Given the description of an element on the screen output the (x, y) to click on. 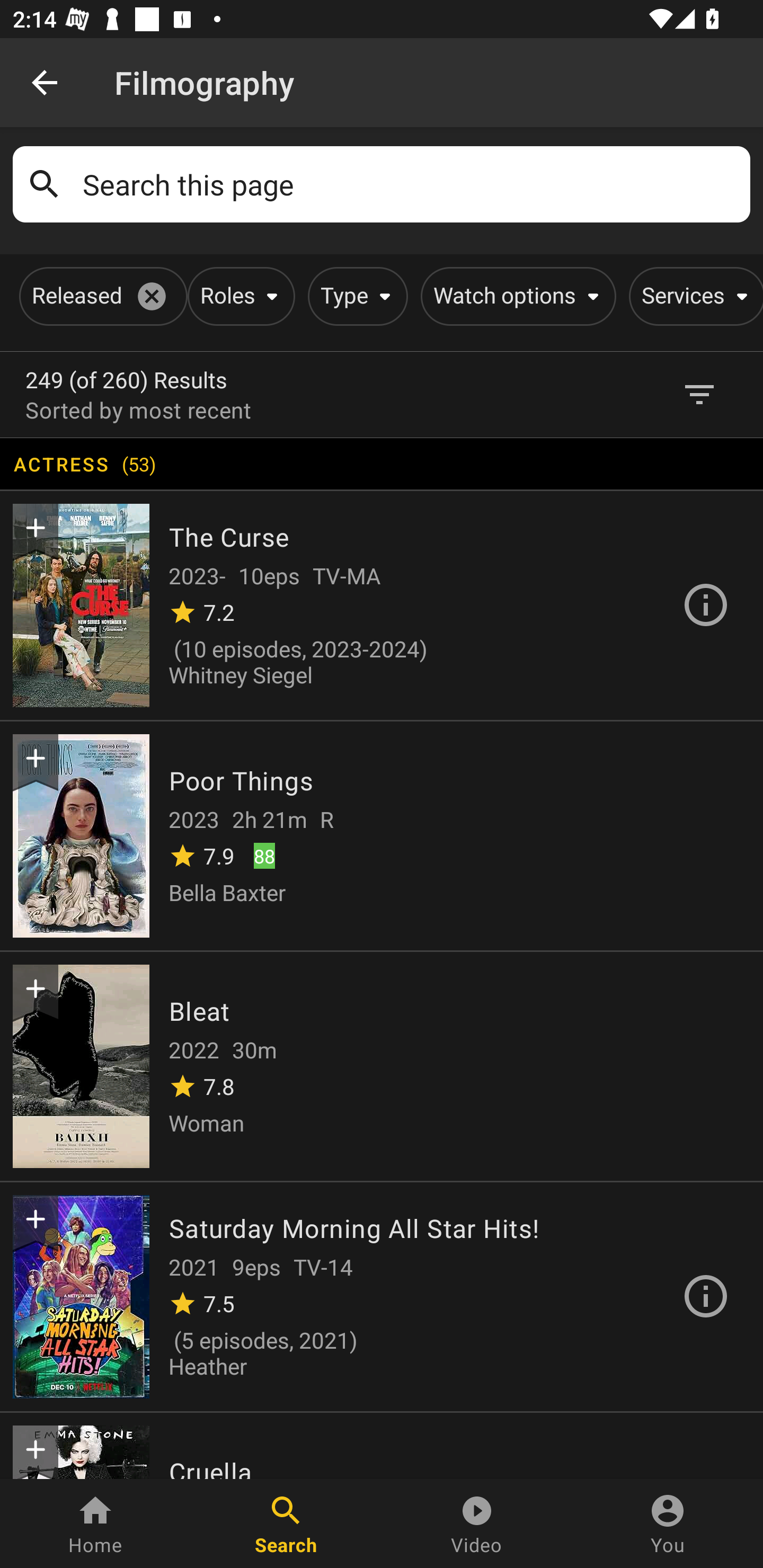
Search this page (410, 184)
Released (100, 296)
Roles (237, 296)
Type (354, 296)
Watch options (514, 296)
Services (693, 296)
Poor Things 2023 2h 21m R 7.9 88 Bella Baxter (381, 834)
Bleat 2022 30m 7.8 Woman (381, 1065)
Home (95, 1523)
Video (476, 1523)
You (667, 1523)
